Given the description of an element on the screen output the (x, y) to click on. 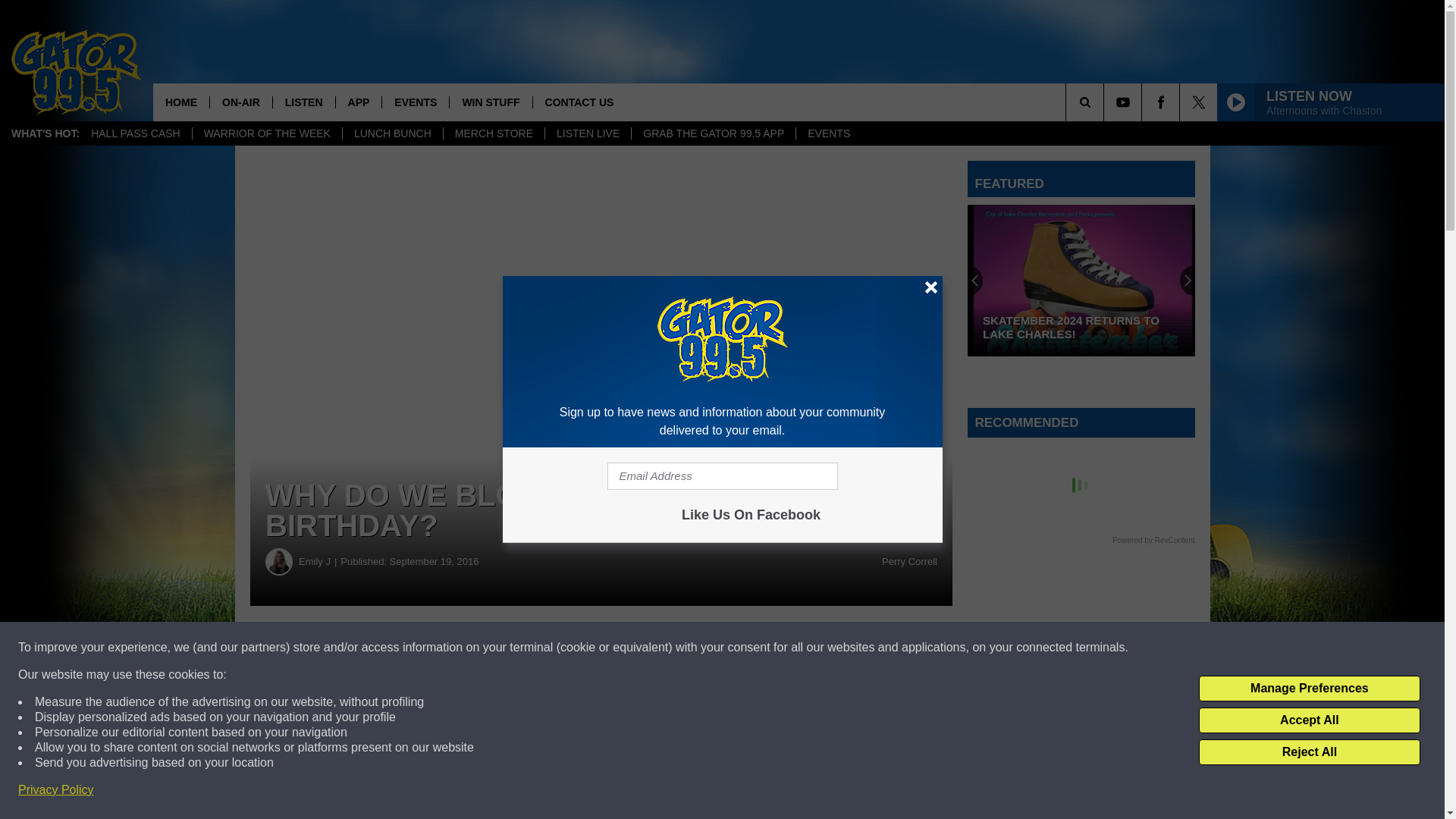
MERCH STORE (493, 133)
Reject All (1309, 751)
Manage Preferences (1309, 688)
Accept All (1309, 720)
SEARCH (1106, 102)
HALL PASS CASH (136, 133)
WARRIOR OF THE WEEK (267, 133)
Share on Twitter (741, 647)
GRAB THE GATOR 99.5 APP (712, 133)
APP (357, 102)
HOME (180, 102)
LUNCH BUNCH (392, 133)
ON-AIR (240, 102)
EVENTS (827, 133)
Email Address (722, 475)
